Given the description of an element on the screen output the (x, y) to click on. 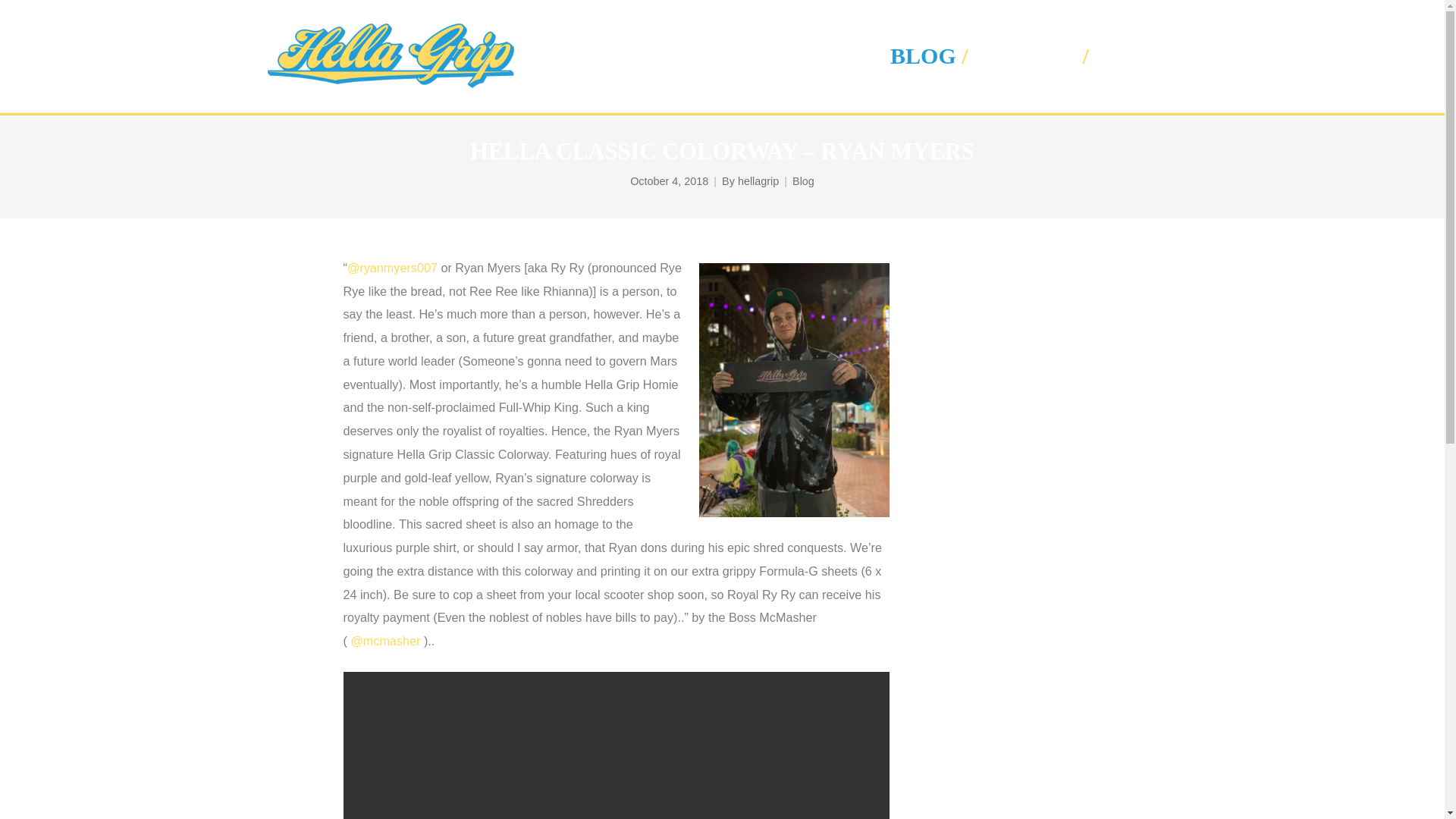
View all posts in Blog (802, 181)
hellagrip (758, 181)
Blog (802, 181)
